Given the description of an element on the screen output the (x, y) to click on. 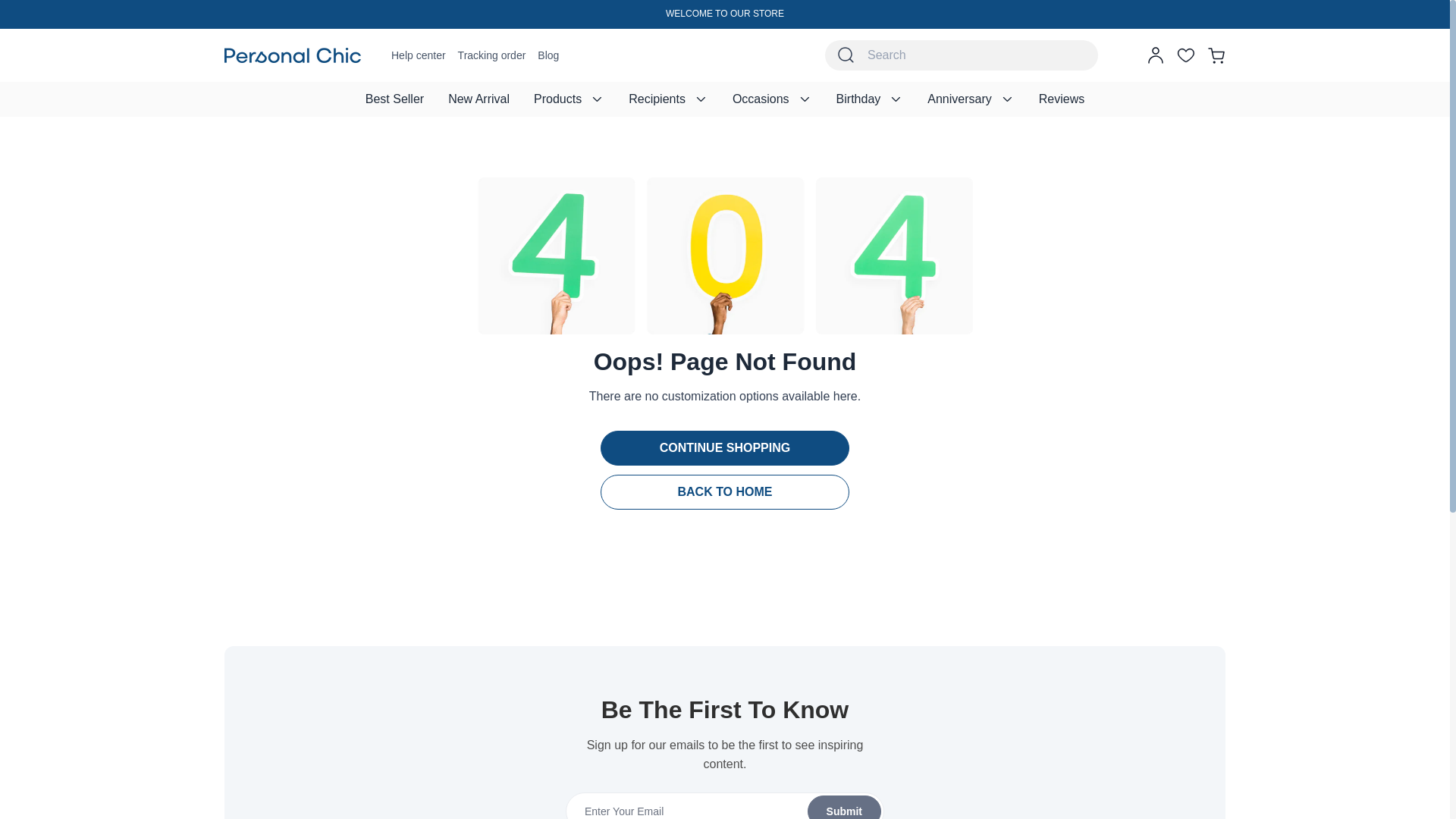
Products (568, 99)
New Arrivals (478, 99)
New Arrival (478, 99)
Products (568, 99)
Personal Chic (292, 55)
wishlist (1185, 54)
Bestsellers (394, 99)
Blog (548, 55)
Submit (723, 805)
Recipients (667, 99)
